Given the description of an element on the screen output the (x, y) to click on. 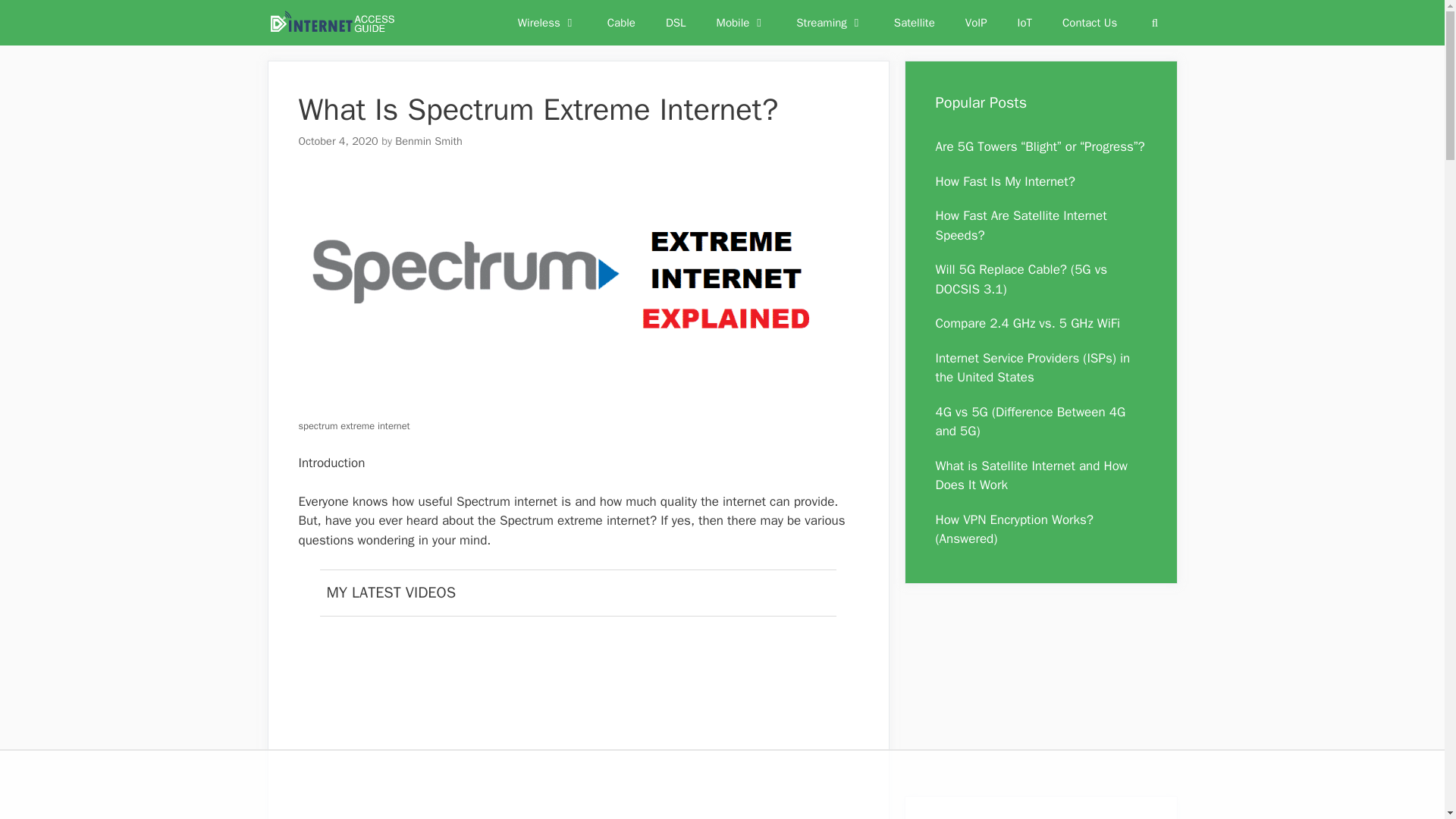
Cable (621, 22)
Satellite (914, 22)
DSL (675, 22)
Benmin Smith (428, 141)
Search (1154, 22)
Internet Access Guide (331, 22)
Wireless (547, 22)
IoT (1024, 22)
5:15 am (338, 141)
Mobile (741, 22)
VoIP (976, 22)
Streaming (829, 22)
October 4, 2020 (338, 141)
Internet Access Guide (335, 22)
View all posts by Benmin Smith (428, 141)
